Given the description of an element on the screen output the (x, y) to click on. 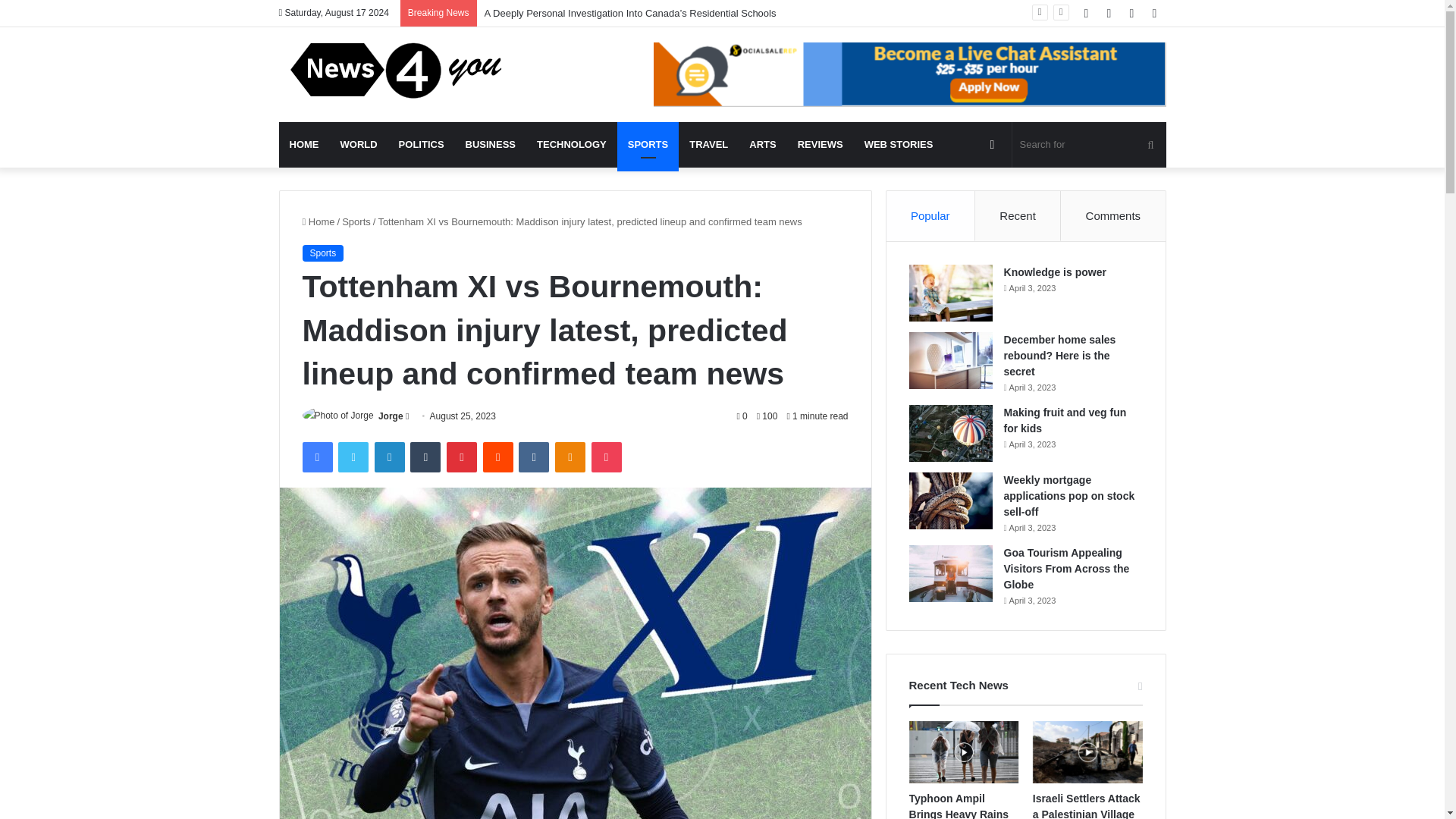
Twitter (352, 457)
LinkedIn (389, 457)
Reddit (498, 457)
Reddit (498, 457)
ARTS (762, 144)
Tumblr (425, 457)
Jorge (390, 416)
VKontakte (533, 457)
Pocket (606, 457)
Jorge (390, 416)
